Given the description of an element on the screen output the (x, y) to click on. 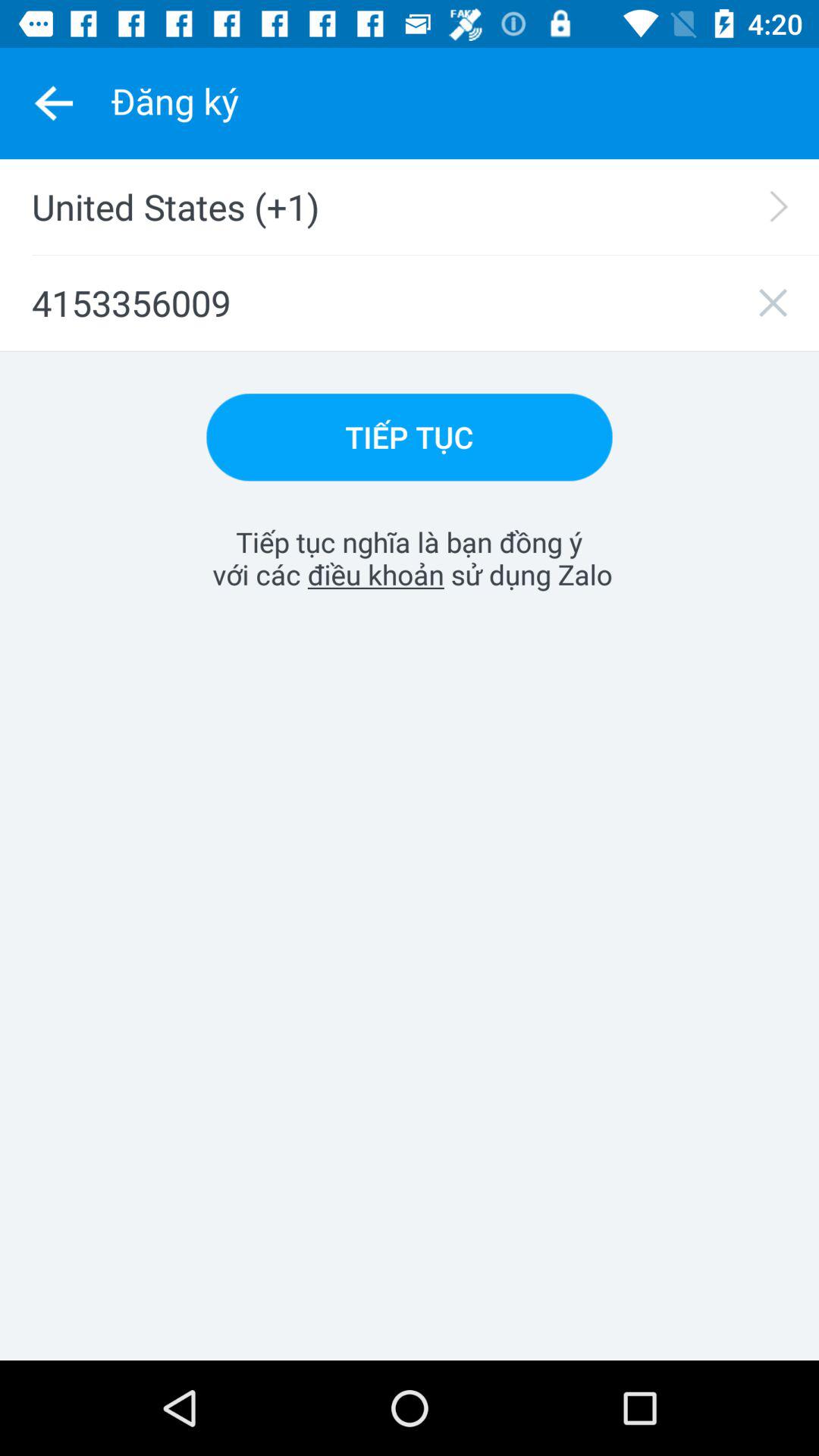
launch item at the center (408, 558)
